Given the description of an element on the screen output the (x, y) to click on. 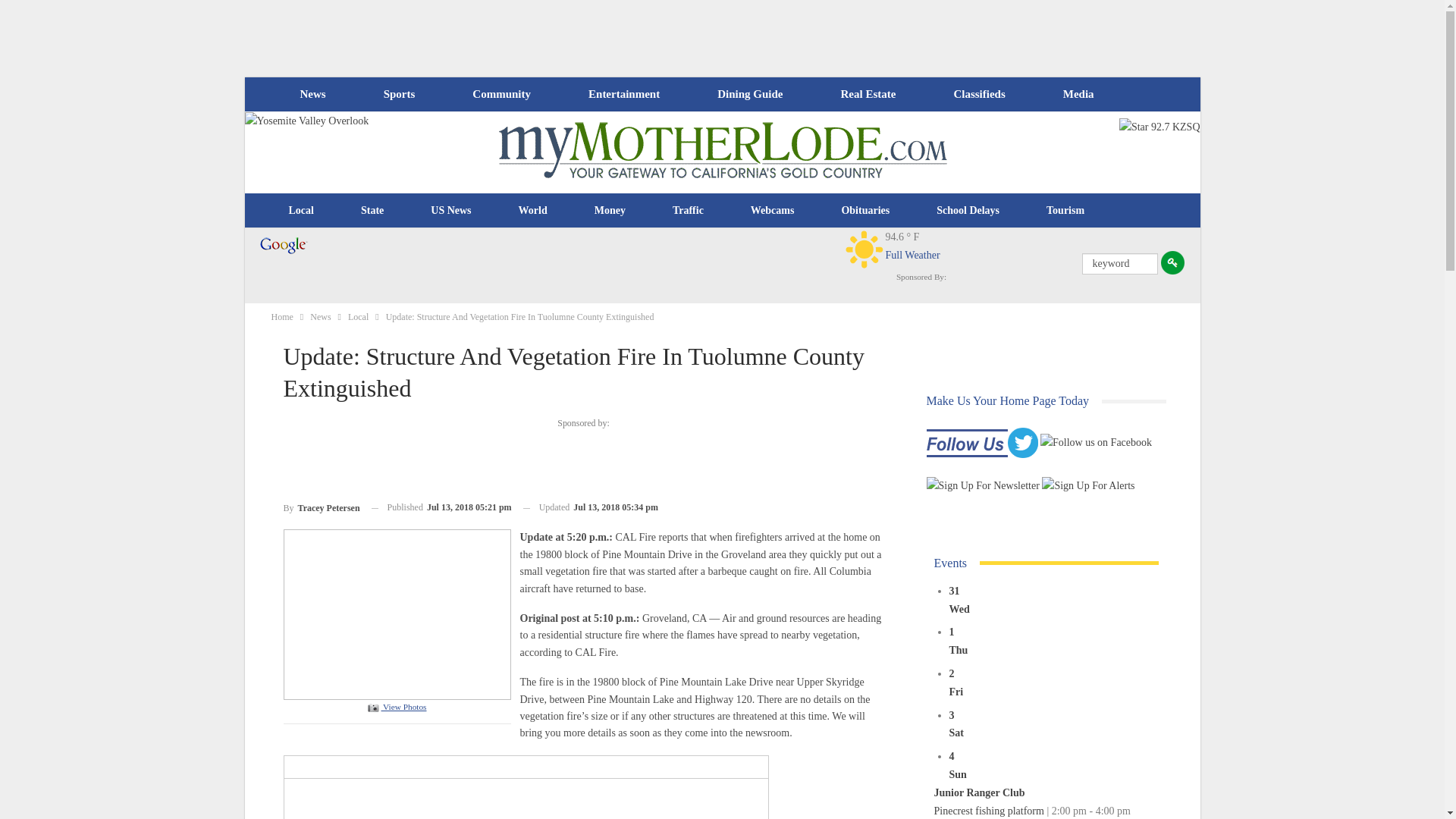
Tourism (1065, 210)
Money (609, 210)
keyword (1119, 263)
Community (501, 93)
Archive Photo (397, 613)
Submit (1172, 262)
Browse Author Articles (321, 507)
Dining Guide (749, 93)
Media (1078, 93)
Obituaries (865, 210)
US News (451, 210)
Webcams (772, 210)
